Given the description of an element on the screen output the (x, y) to click on. 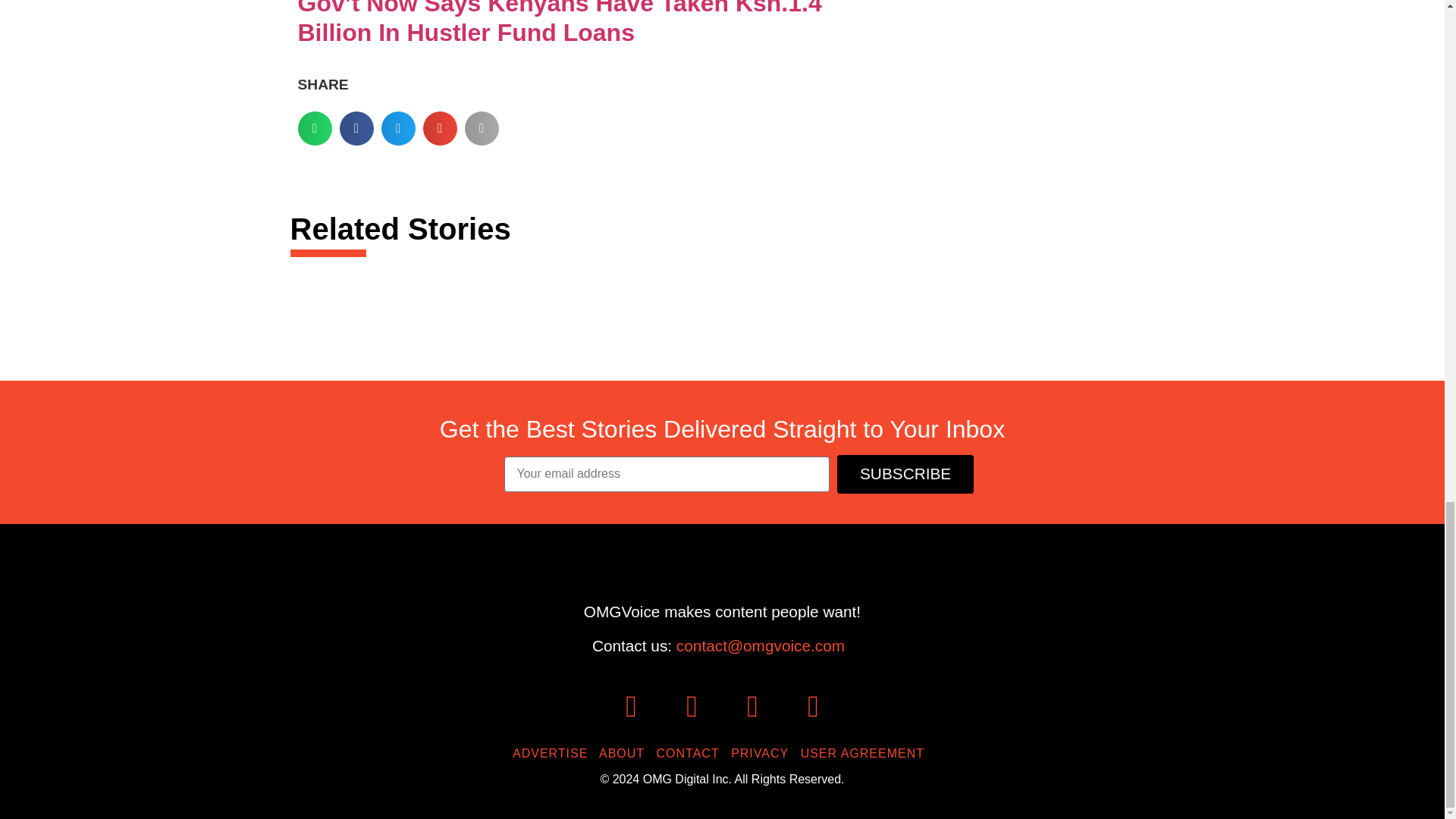
PRIVACY (763, 753)
CONTACT (691, 753)
USER AGREEMENT (865, 753)
ABOUT (625, 753)
SUBSCRIBE (905, 474)
ADVERTISE (553, 753)
